Given the description of an element on the screen output the (x, y) to click on. 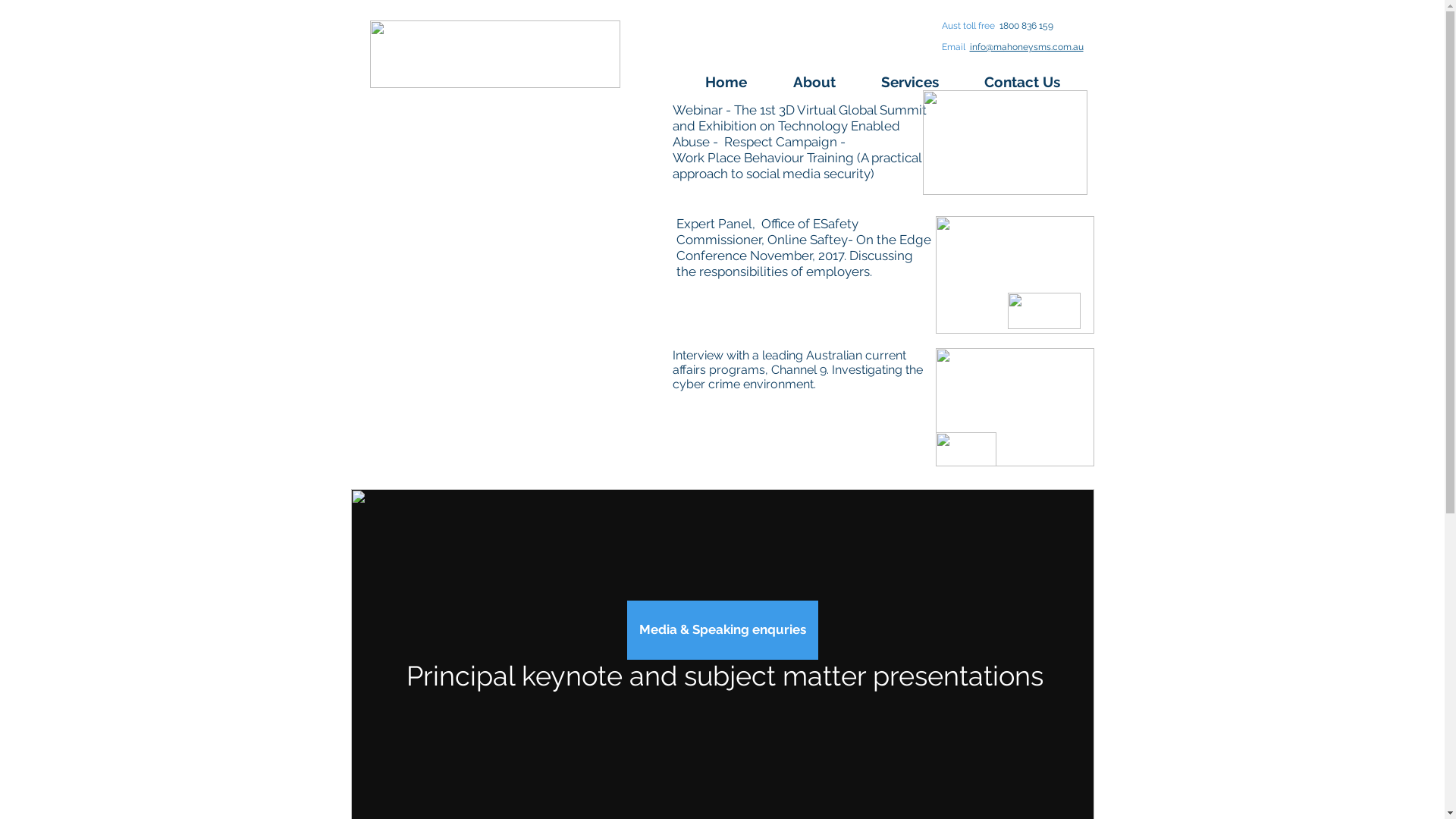
Home Element type: text (737, 81)
Services Element type: text (920, 81)
Media & Speaking enquries Element type: text (721, 629)
info@mahoneysms.com.au Element type: text (1025, 46)
Contact Us Element type: text (1032, 81)
About Element type: text (825, 81)
